Given the description of an element on the screen output the (x, y) to click on. 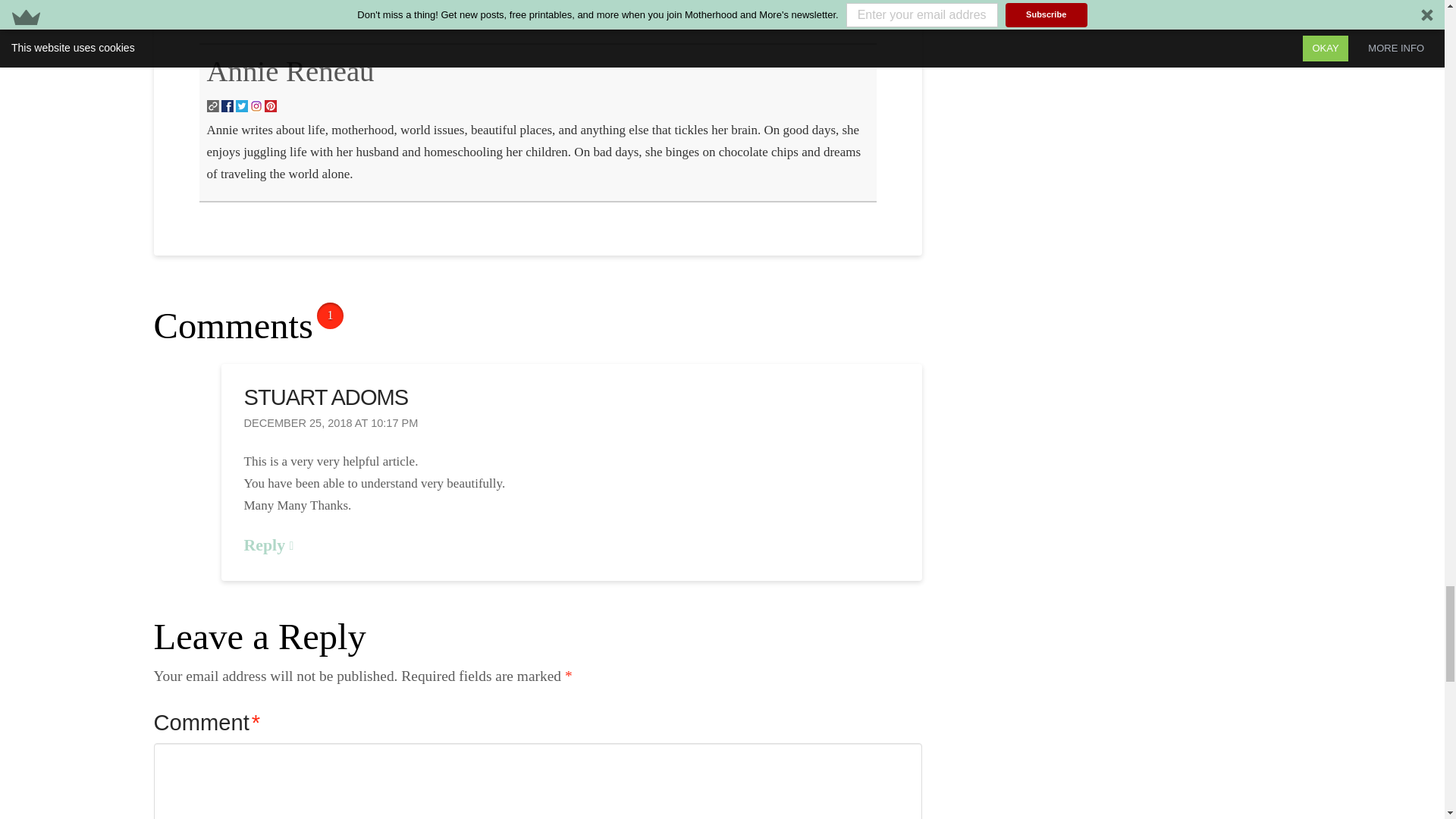
Facebook (243, 13)
Pinterest (316, 13)
More Options (389, 13)
Email This (352, 13)
